Given the description of an element on the screen output the (x, y) to click on. 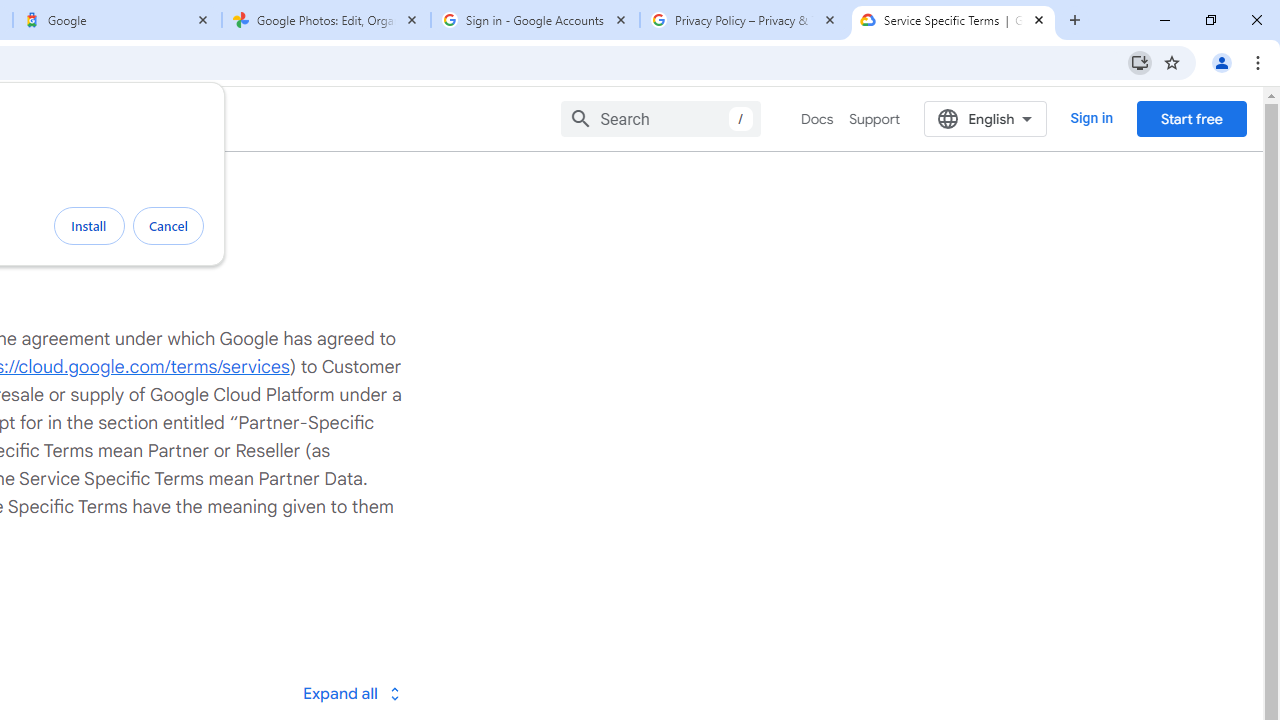
Support (874, 119)
Start free (1191, 118)
Install Google Cloud (1139, 62)
Google (116, 20)
Install (89, 225)
Docs (817, 119)
Cancel (168, 225)
